Given the description of an element on the screen output the (x, y) to click on. 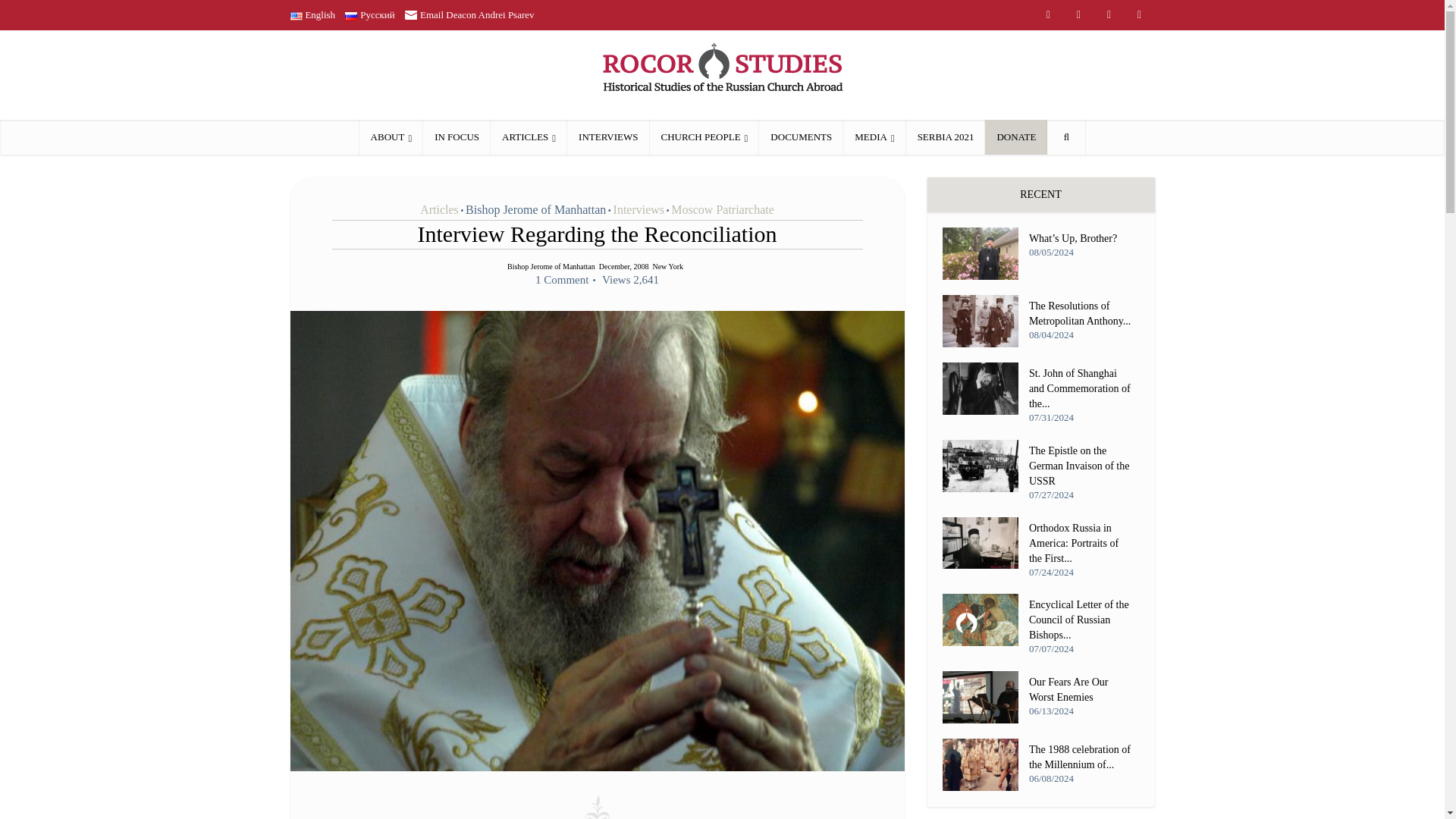
YouTube (1077, 15)
Facebook (1108, 15)
CHURCH PEOPLE (703, 136)
ABOUT (391, 136)
Twitter (1139, 15)
ARTICLES (528, 136)
DOCUMENTS (800, 136)
SERBIA 2021 (945, 136)
MEDIA (874, 136)
IN FOCUS (456, 136)
